Given the description of an element on the screen output the (x, y) to click on. 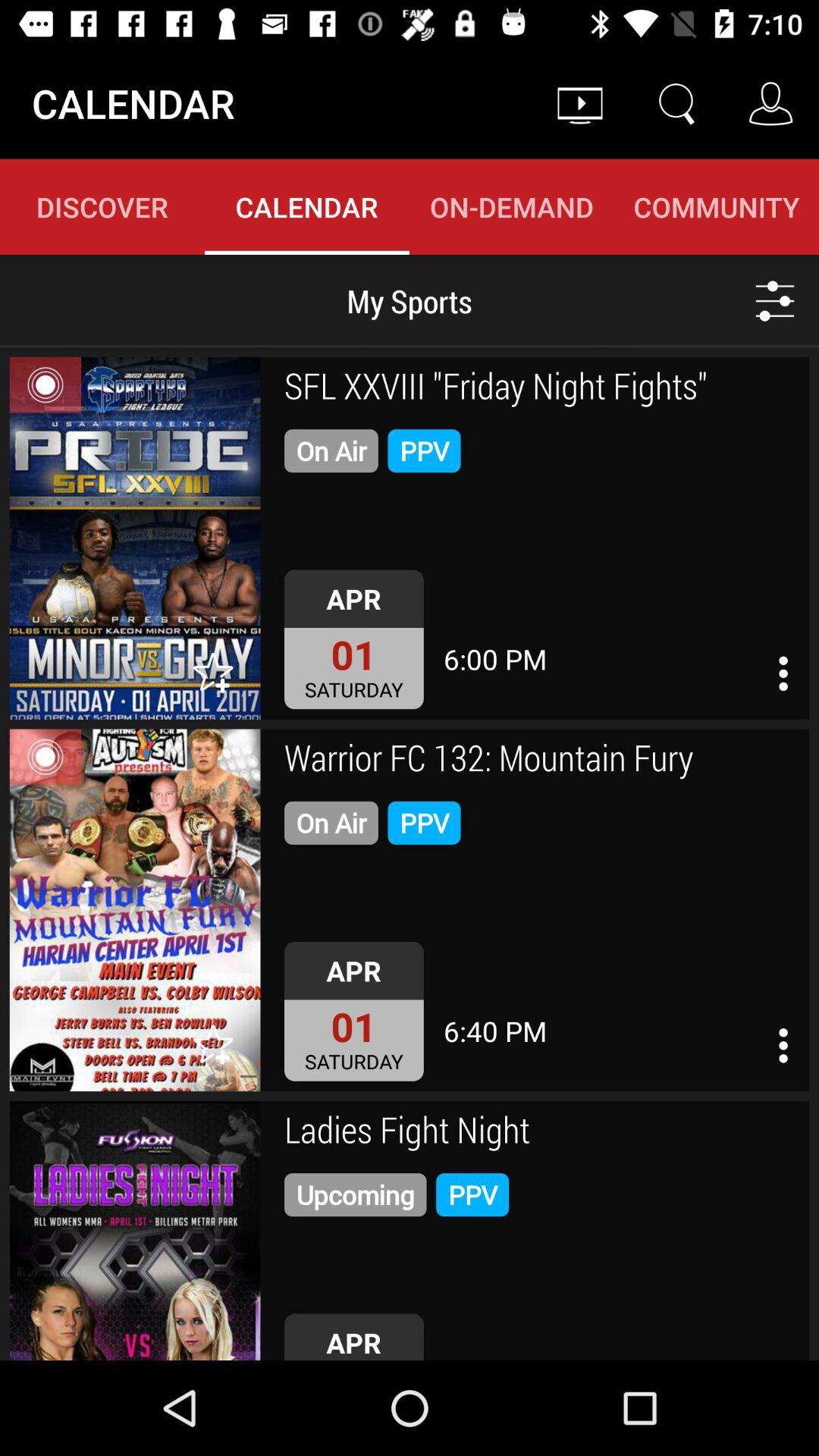
see details (783, 673)
